Given the description of an element on the screen output the (x, y) to click on. 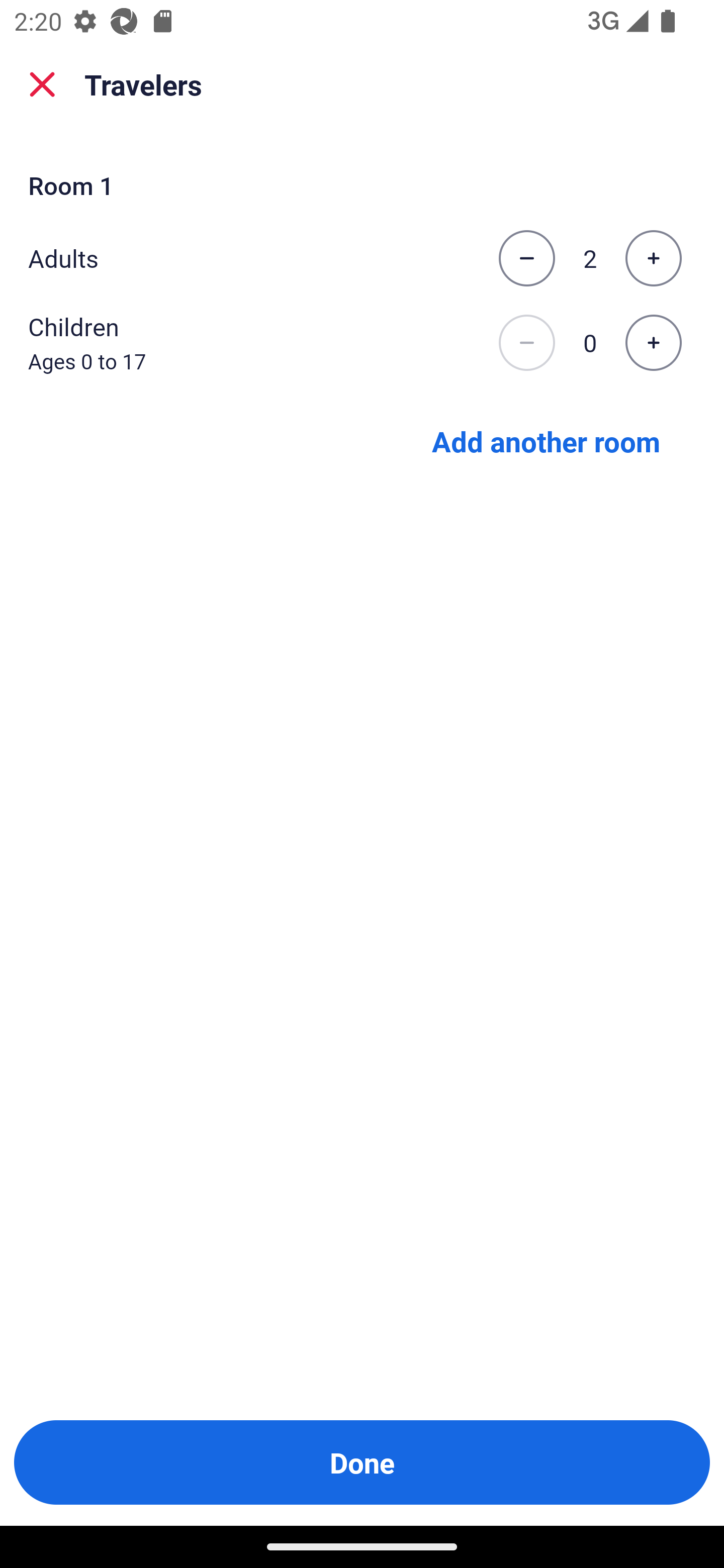
close (42, 84)
Decrease the number of adults (526, 258)
Increase the number of adults (653, 258)
Decrease the number of children (526, 343)
Increase the number of children (653, 343)
Add another room (545, 440)
Done (361, 1462)
